Given the description of an element on the screen output the (x, y) to click on. 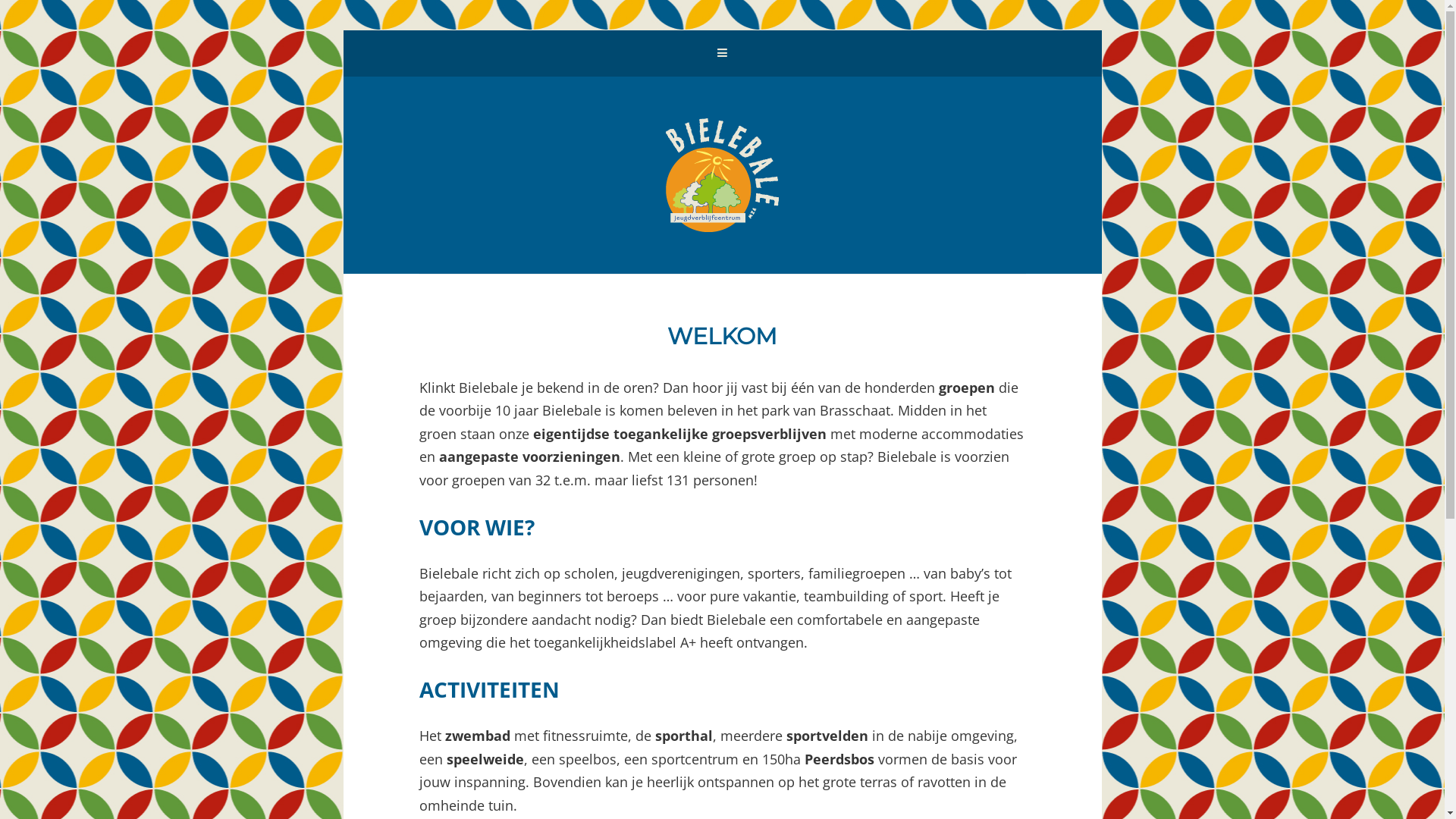
WELKOM Element type: text (722, 336)
